Given the description of an element on the screen output the (x, y) to click on. 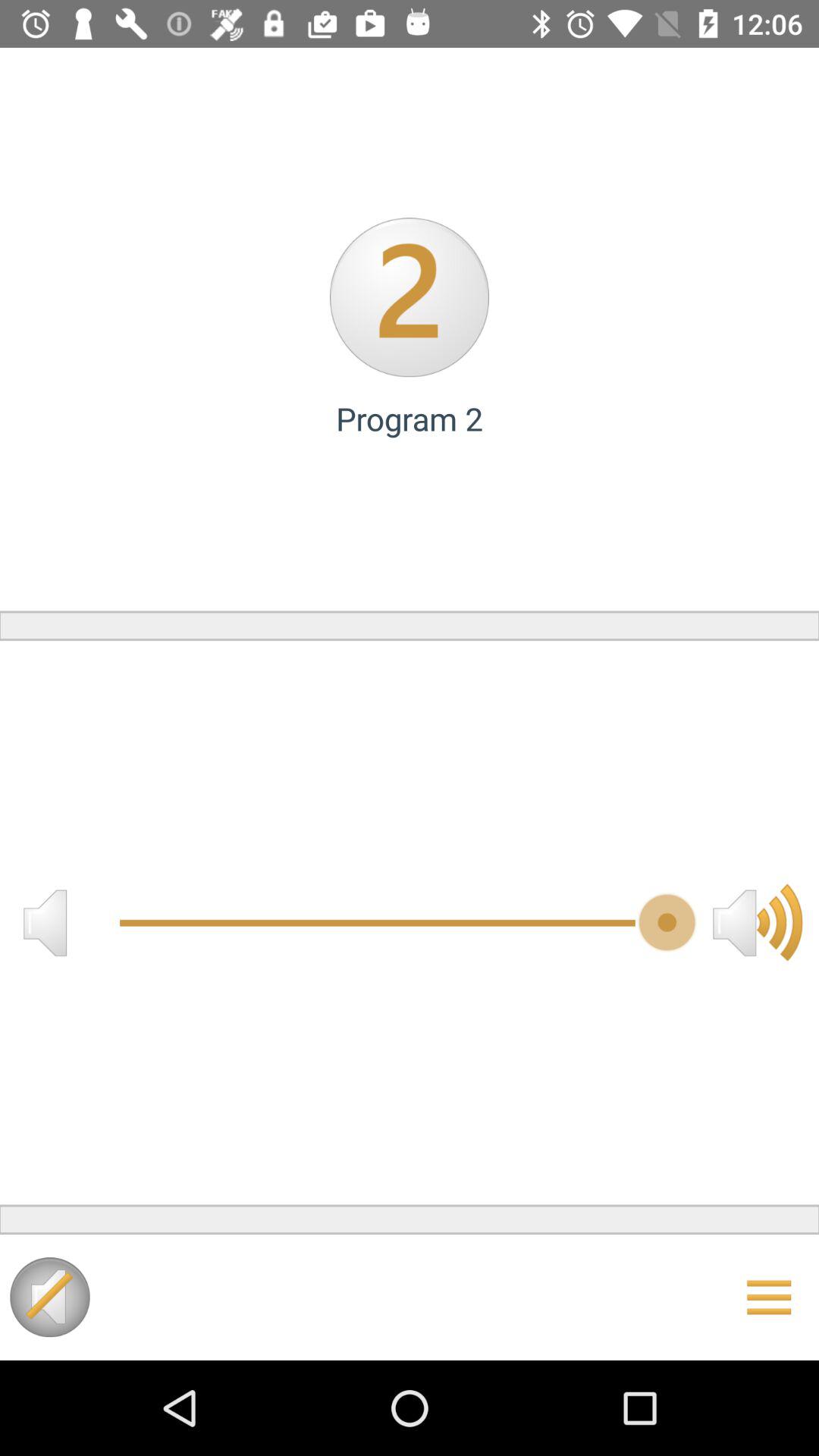
volume level (758, 922)
